Given the description of an element on the screen output the (x, y) to click on. 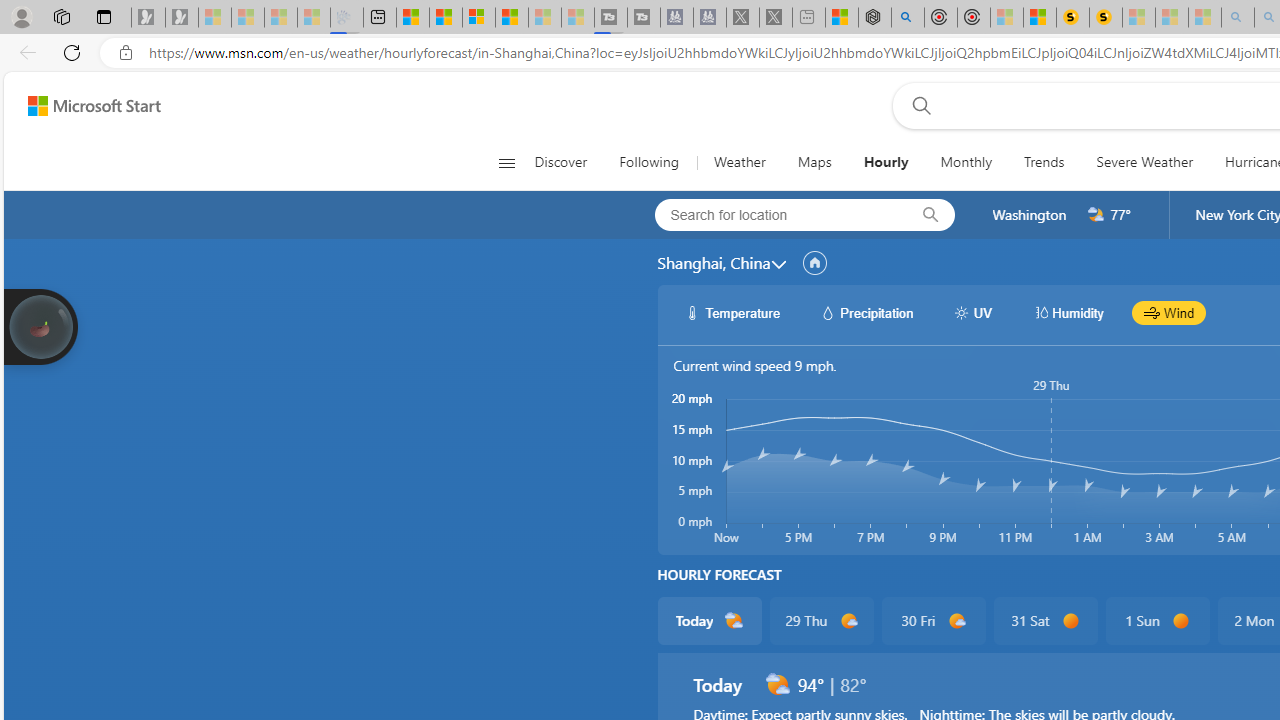
common/carouselChevron (778, 264)
29 Thu d1000 (821, 620)
poe - Search (908, 17)
d1000 (956, 621)
Web search (917, 105)
hourlyChart/temperatureWhite (692, 312)
Maps (814, 162)
d2000 (777, 684)
Today d2000 (708, 620)
Trends (1044, 162)
